Given the description of an element on the screen output the (x, y) to click on. 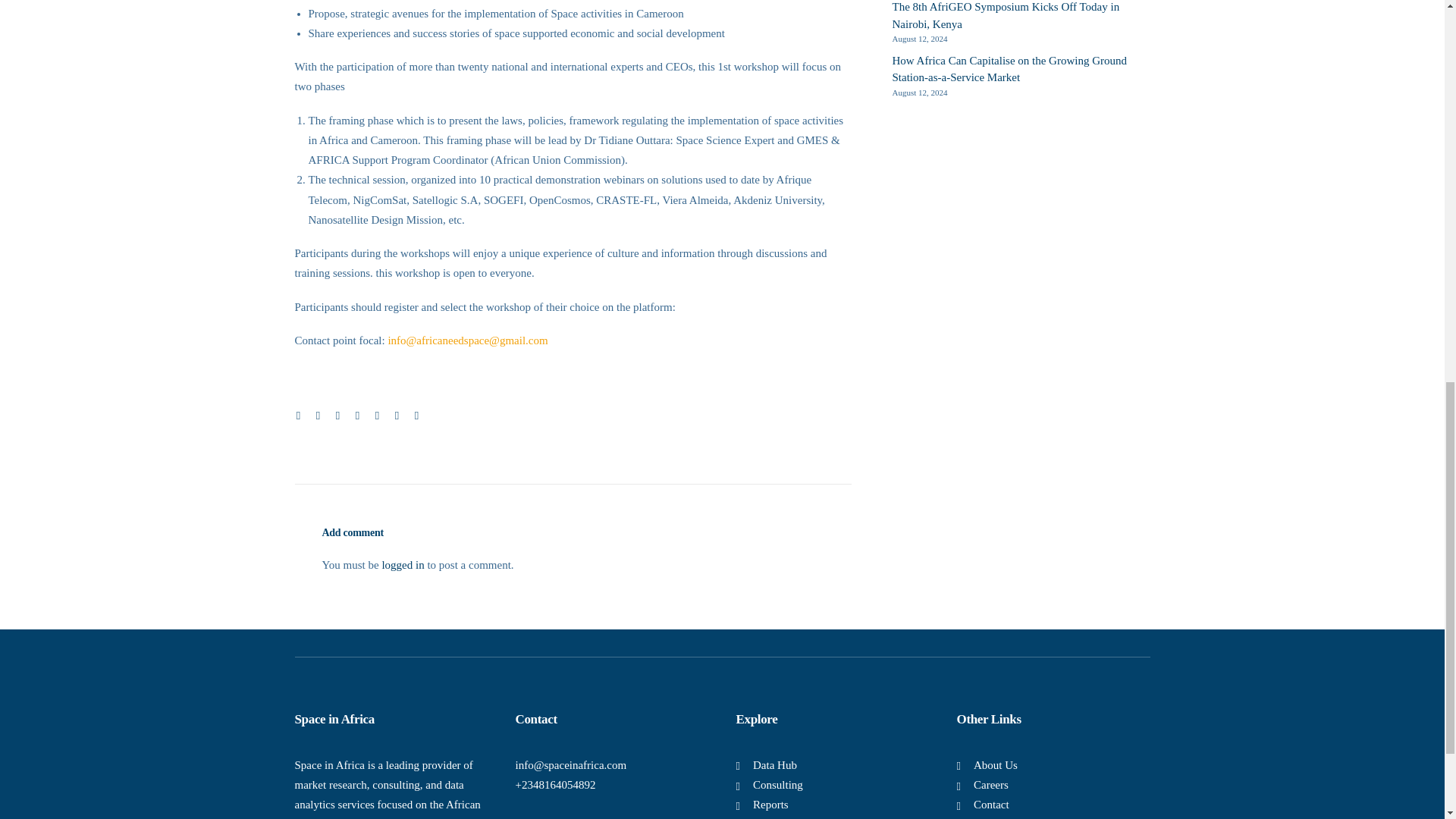
Data Hub (774, 765)
About Us (995, 765)
Reports (770, 804)
Careers (991, 784)
Consulting (777, 784)
logged in (402, 564)
The 8th AfriGEO Symposium Kicks Off Today in Nairobi, Kenya (1020, 16)
